Given the description of an element on the screen output the (x, y) to click on. 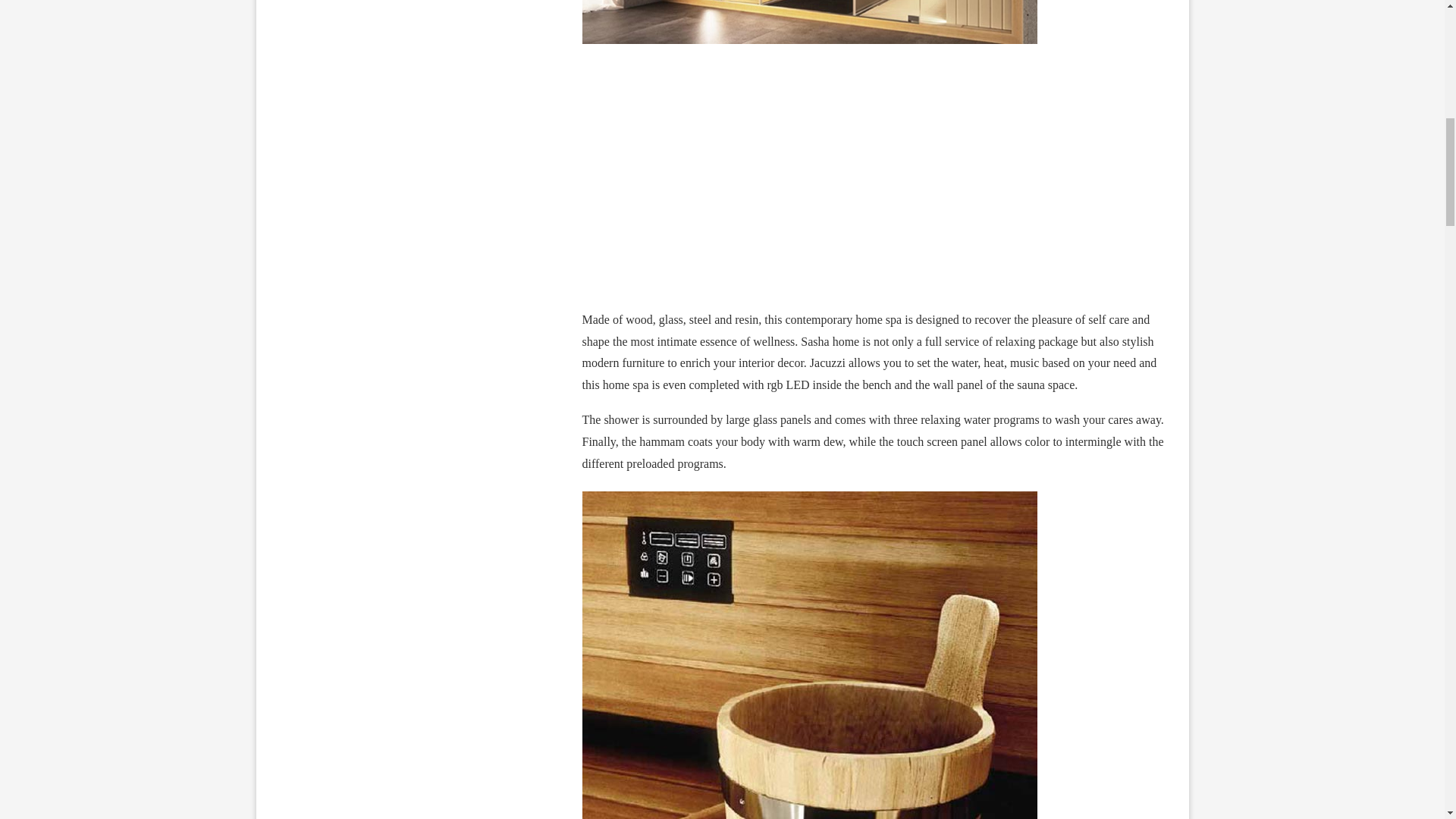
Jacuzzi Sasha - Complete Home Spa (874, 184)
Jacuzzi Sasha - Complete Home Spa (817, 497)
Jacuzzi Sasha - Complete Home Spa (809, 22)
